Given the description of an element on the screen output the (x, y) to click on. 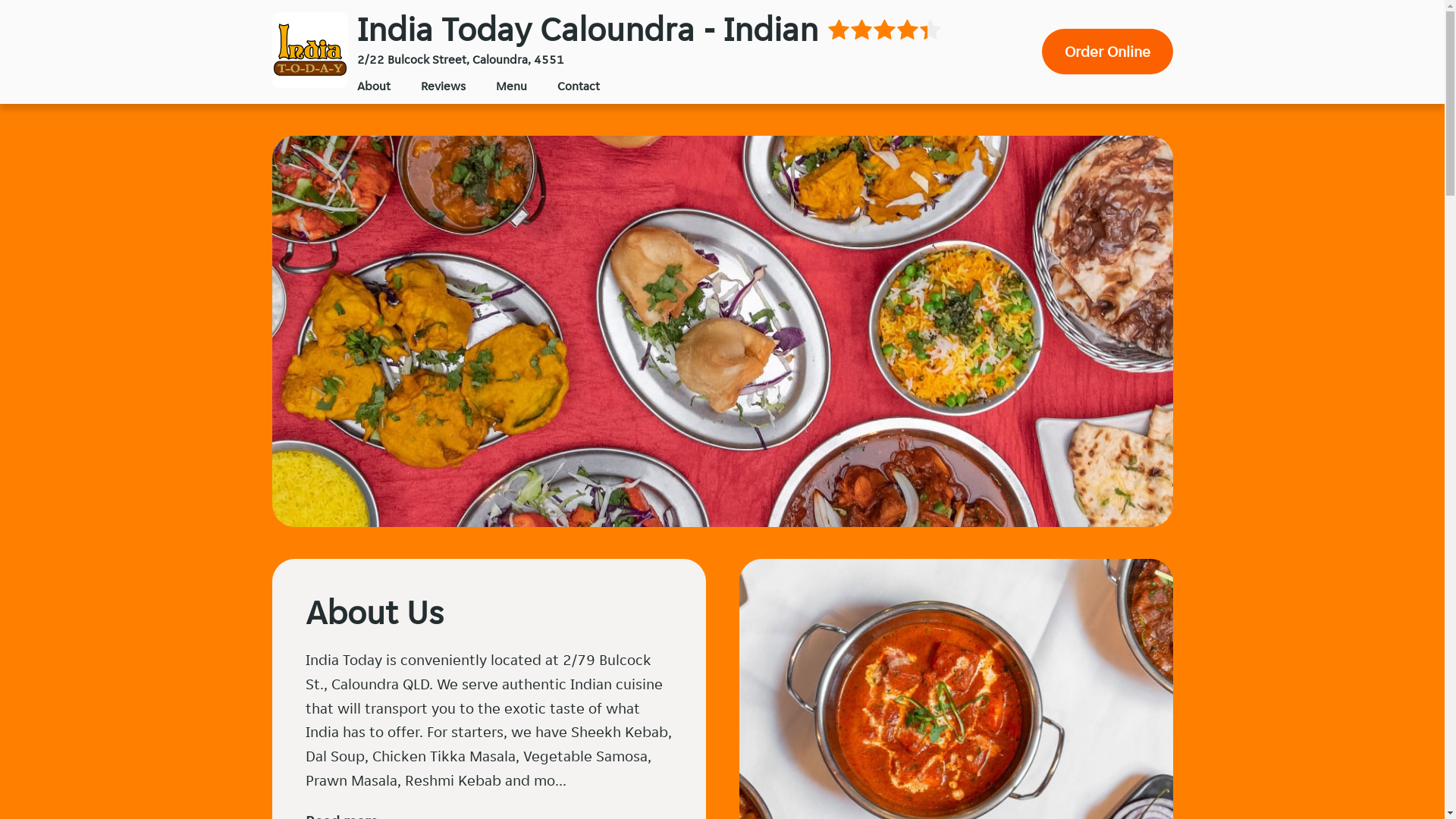
Menu Element type: text (511, 86)
Contact Element type: text (577, 86)
India Today Caloundra Element type: hover (309, 49)
Reviews Element type: text (442, 86)
Order Online Element type: text (1107, 51)
About Element type: text (372, 86)
